Given the description of an element on the screen output the (x, y) to click on. 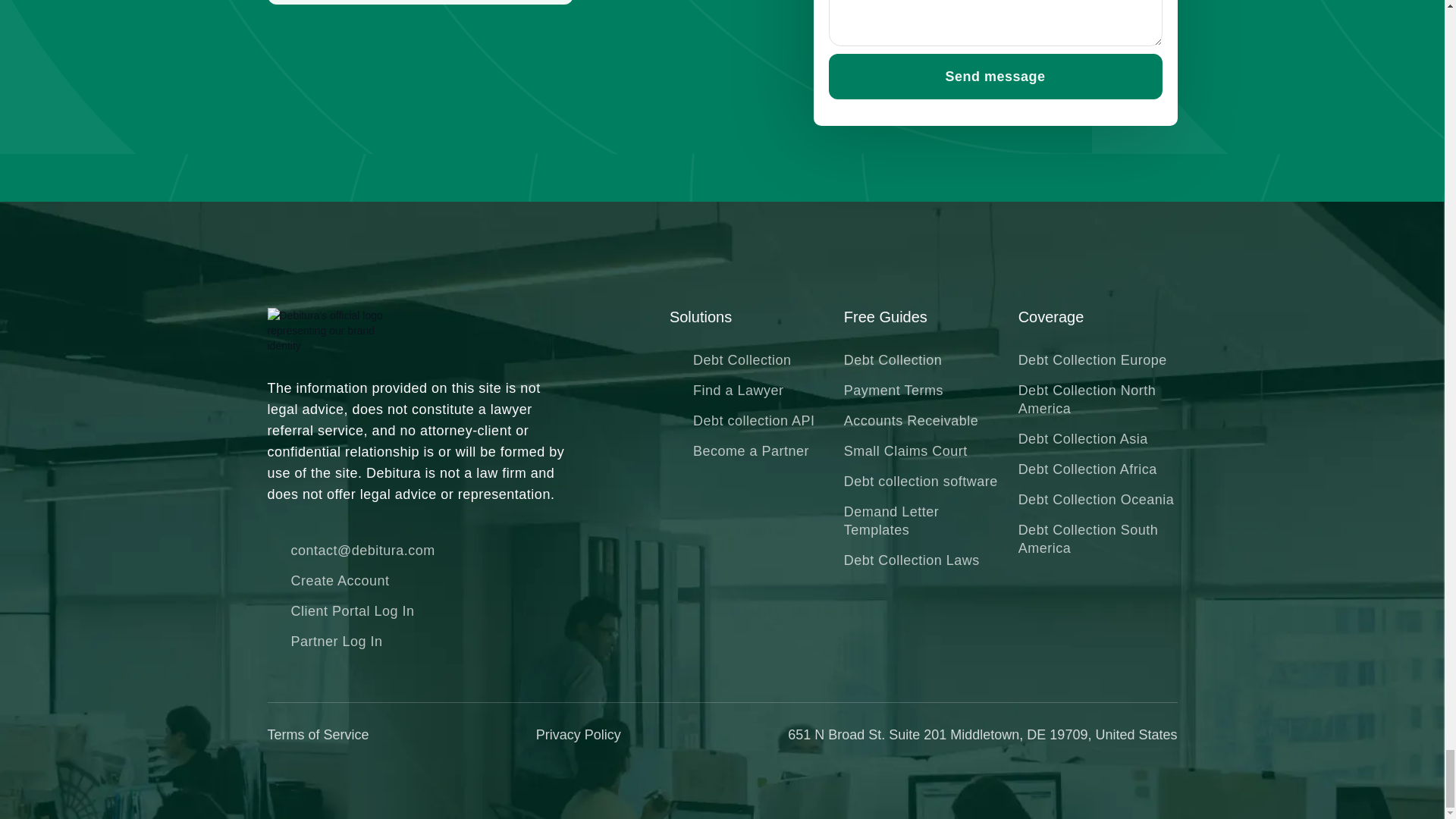
Debitura Logo (334, 329)
Send message (994, 76)
